Given the description of an element on the screen output the (x, y) to click on. 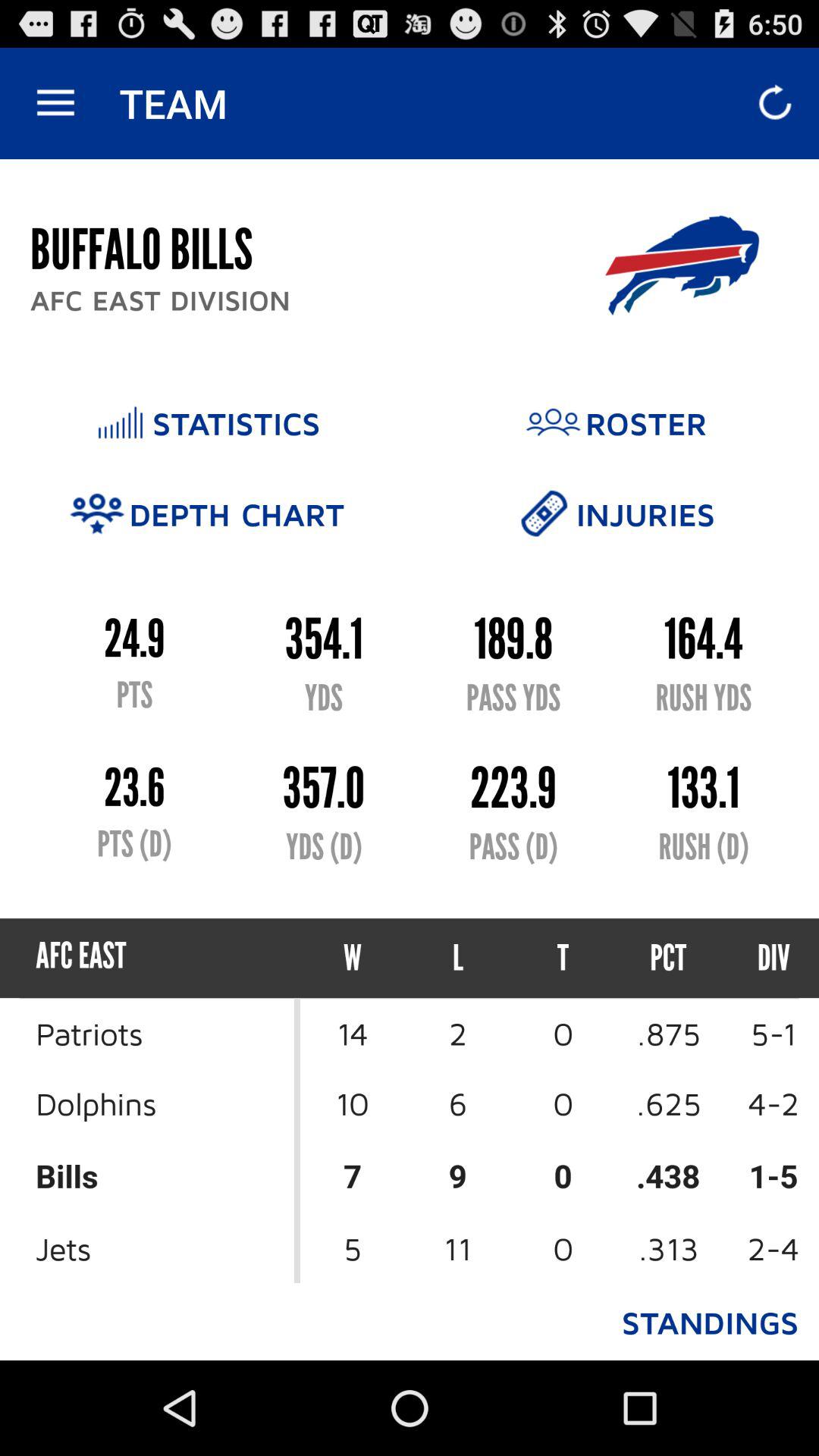
turn off the icon to the left of team item (55, 103)
